Given the description of an element on the screen output the (x, y) to click on. 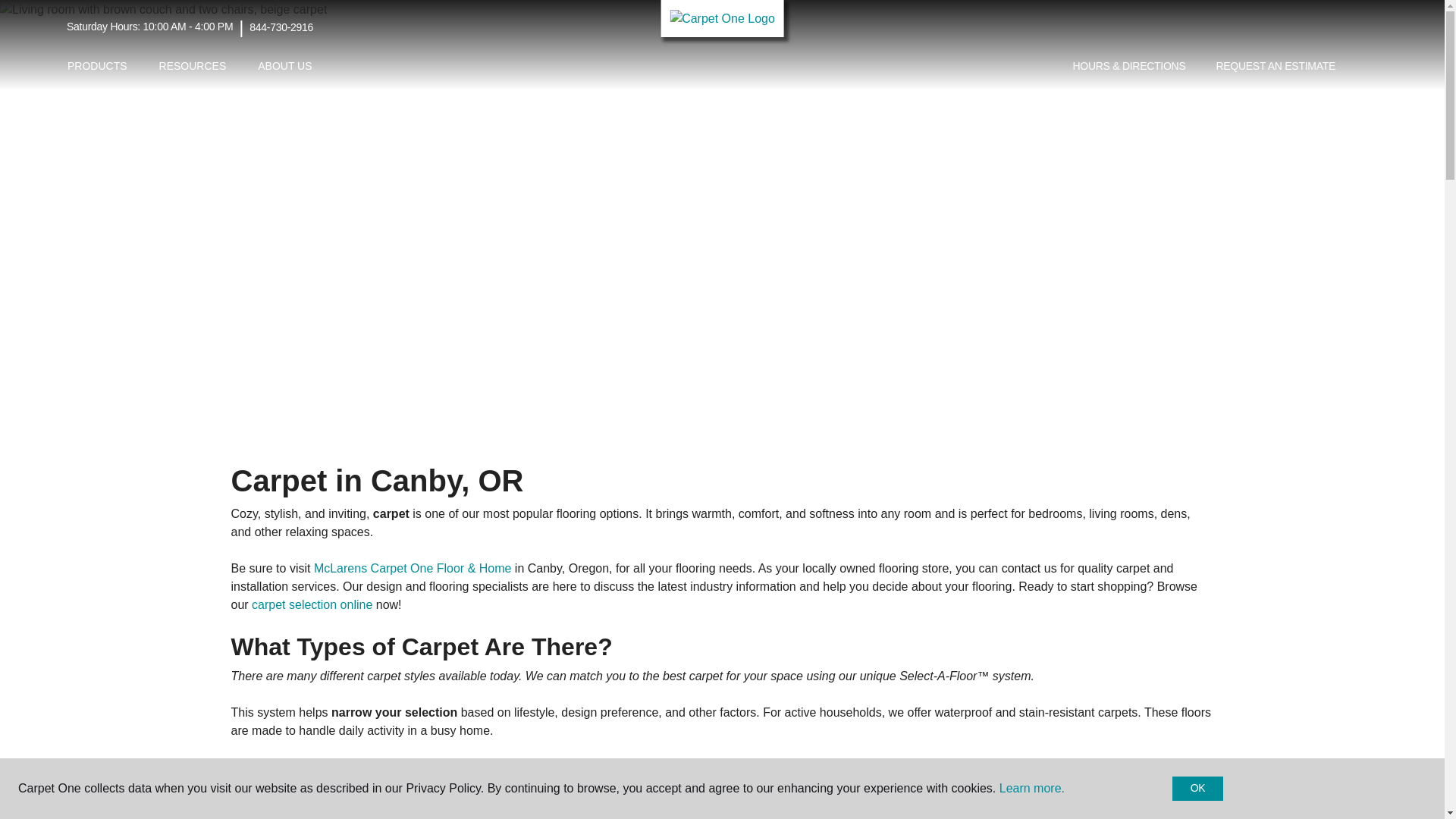
PRODUCTS (97, 66)
REQUEST AN ESTIMATE (1276, 66)
844-730-2916 (280, 27)
ABOUT US (284, 66)
RESOURCES (193, 66)
